Given the description of an element on the screen output the (x, y) to click on. 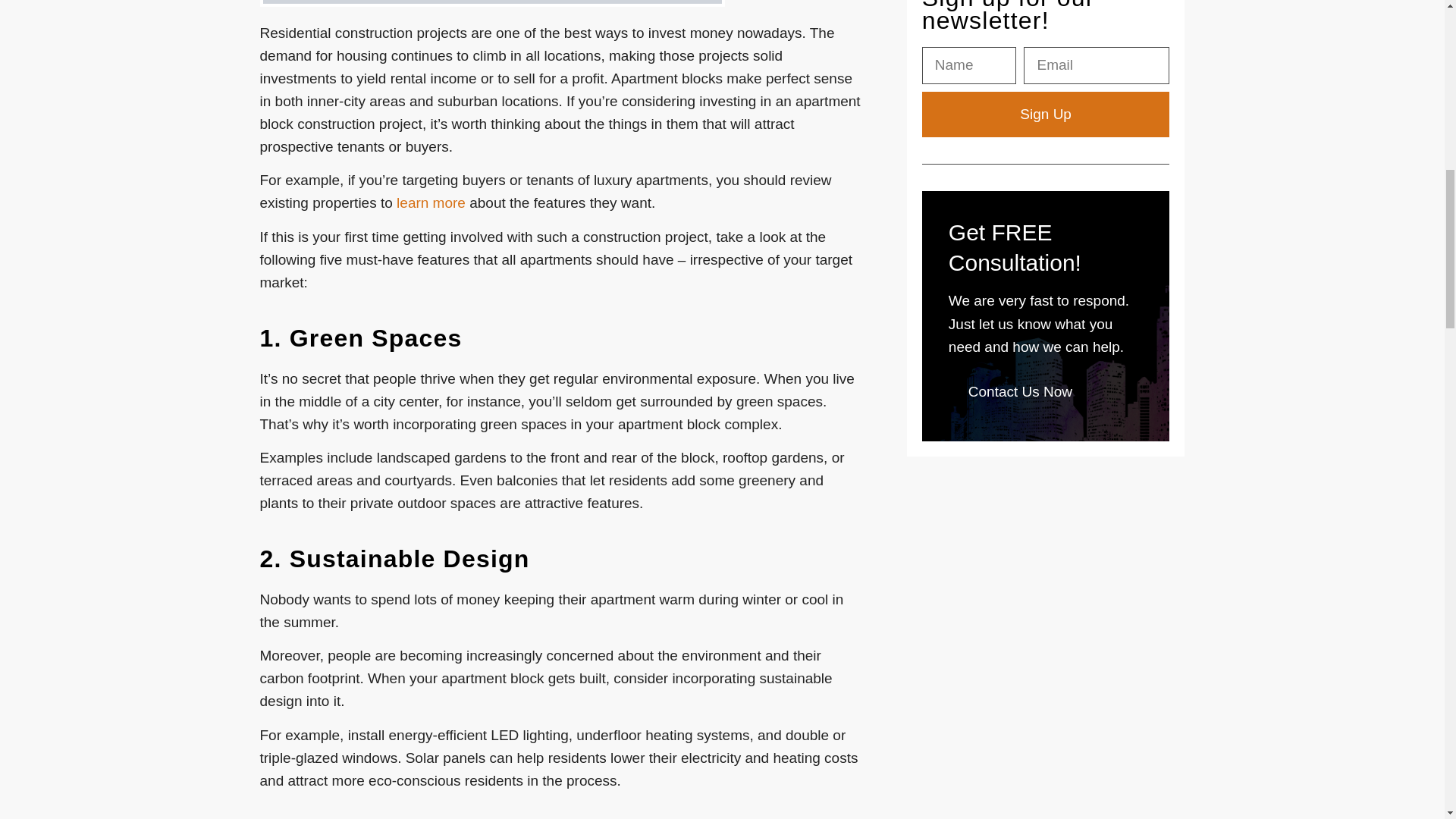
Sign Up (1045, 114)
learn more (430, 202)
Contact Us Now (1020, 392)
